Given the description of an element on the screen output the (x, y) to click on. 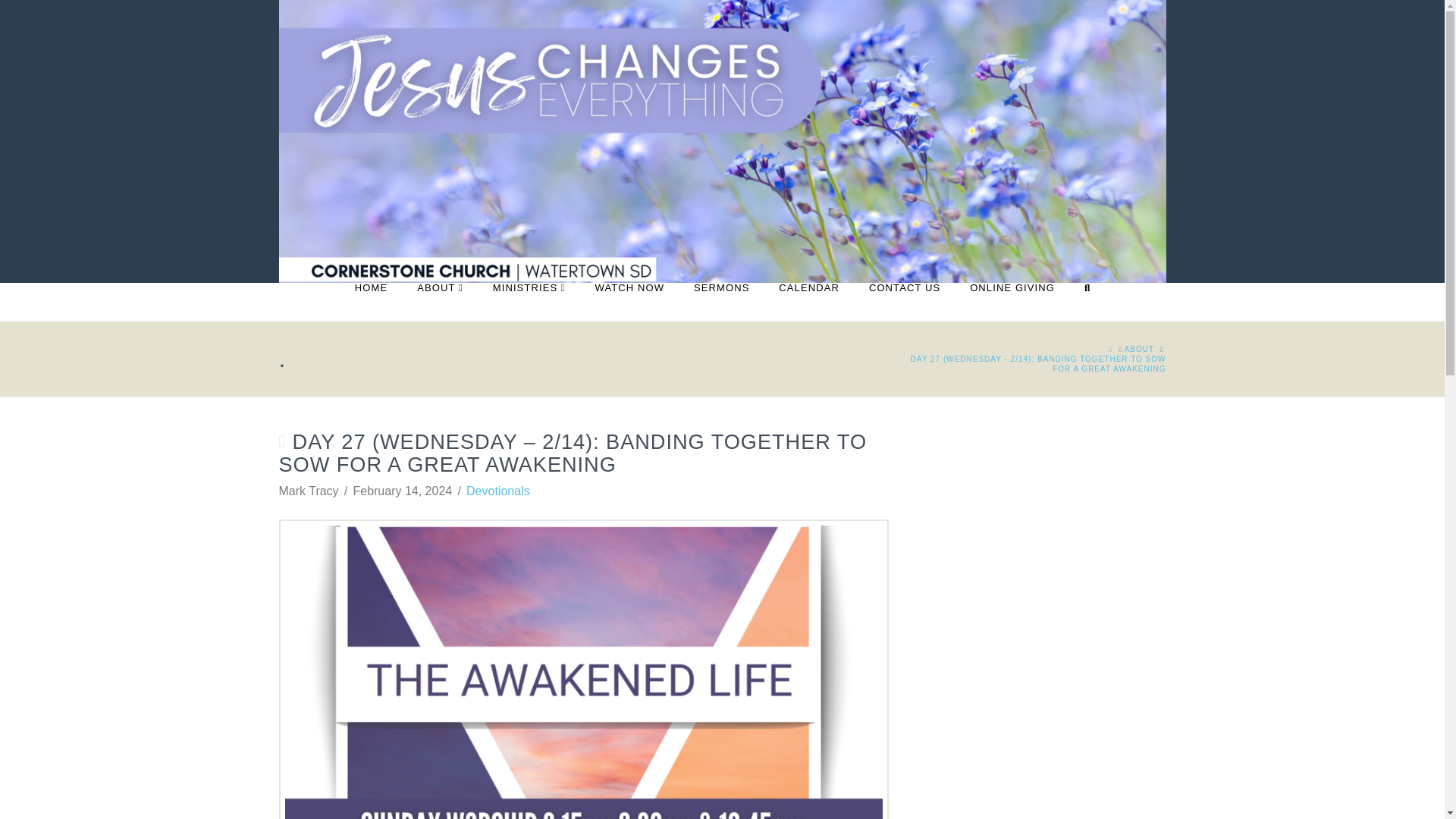
You Are Here (1032, 363)
ONLINE GIVING (1011, 301)
WATCH NOW (628, 301)
MINISTRIES (528, 301)
HOME (370, 301)
ABOUT (439, 301)
CONTACT US (904, 301)
SERMONS (720, 301)
CALENDAR (807, 301)
